Given the description of an element on the screen output the (x, y) to click on. 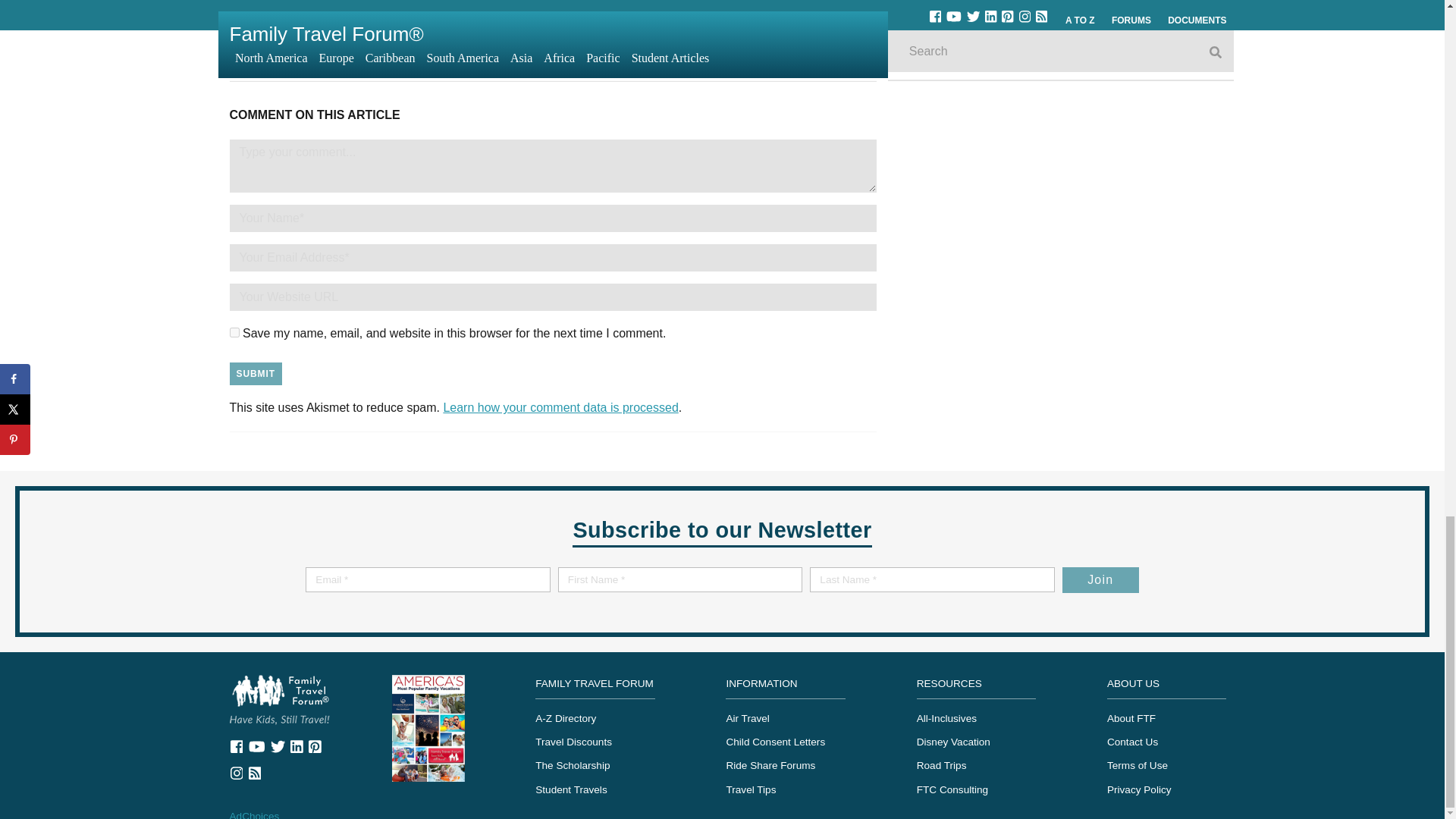
Join (1100, 579)
Submit (254, 373)
Submit (254, 373)
America's Most Popular Family Vacations (710, 27)
Learn how your comment data is processed (395, 27)
yes (427, 727)
My Family Travels (560, 407)
